Given the description of an element on the screen output the (x, y) to click on. 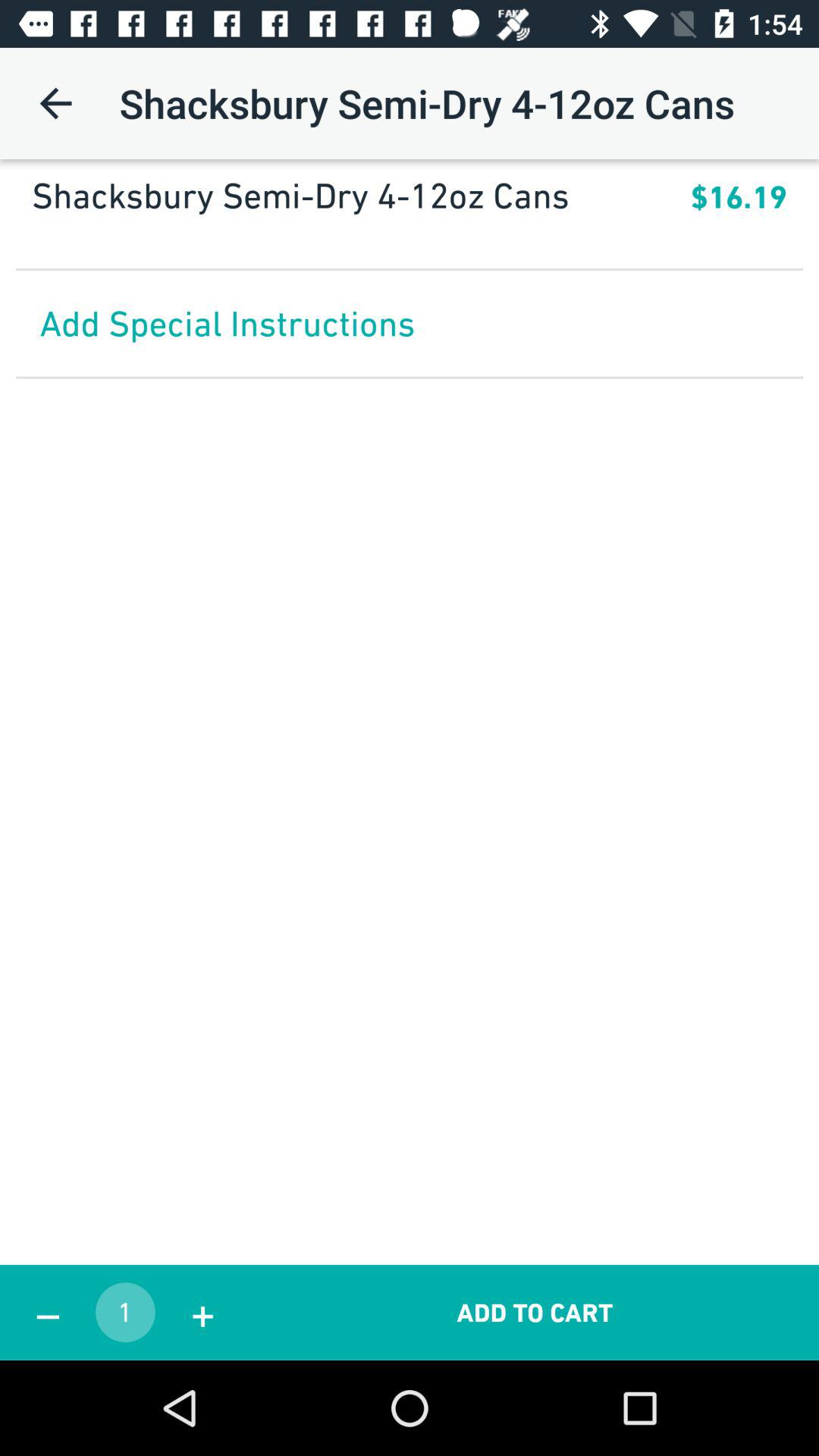
press the icon next to 1 icon (47, 1312)
